Given the description of an element on the screen output the (x, y) to click on. 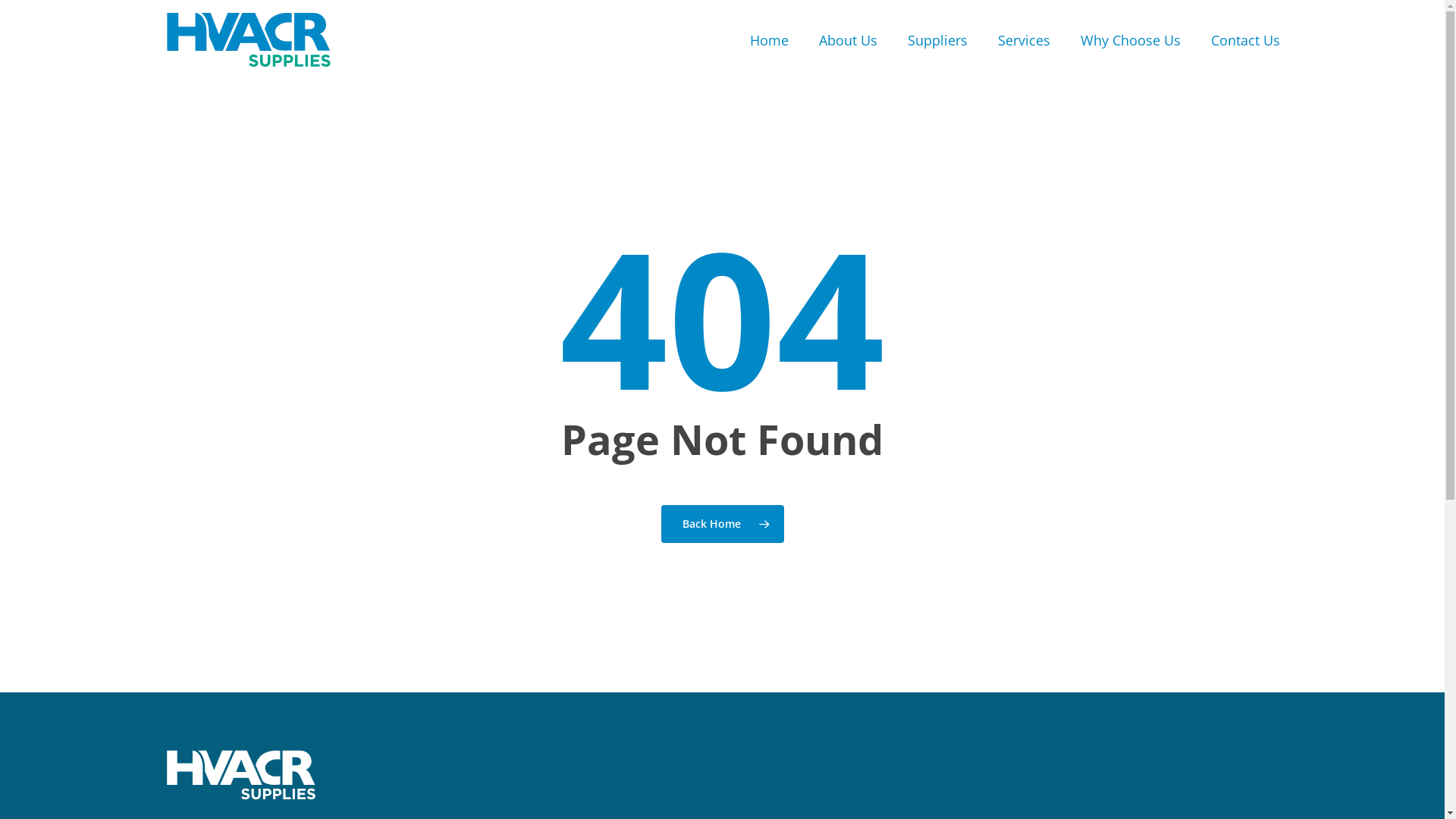
About Us Element type: text (848, 40)
Services Element type: text (1023, 40)
Back Home Element type: text (722, 523)
Contact Us Element type: text (1244, 40)
Suppliers Element type: text (936, 40)
Home Element type: text (768, 40)
Why Choose Us Element type: text (1129, 40)
